Given the description of an element on the screen output the (x, y) to click on. 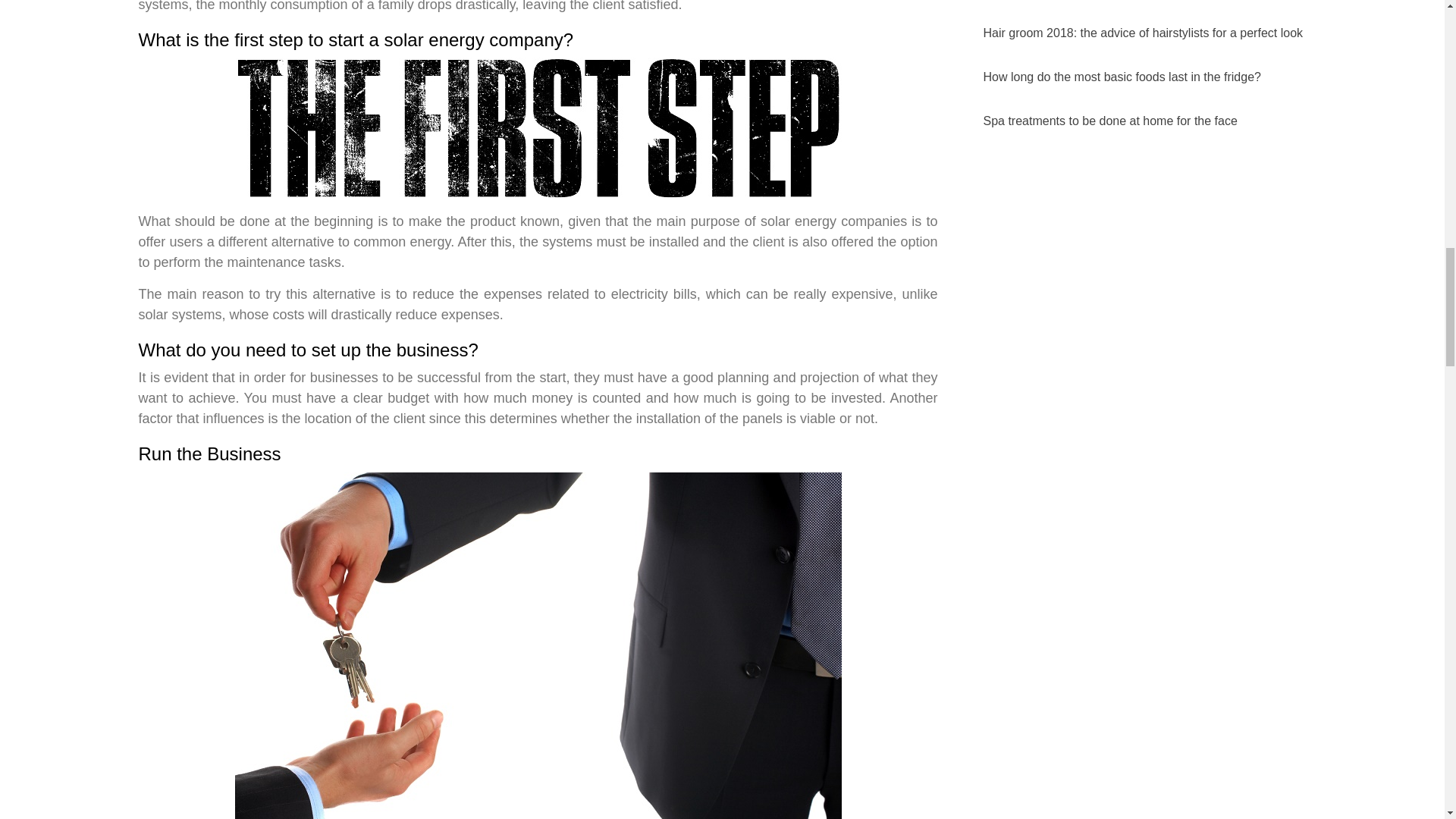
first step (537, 128)
